Given the description of an element on the screen output the (x, y) to click on. 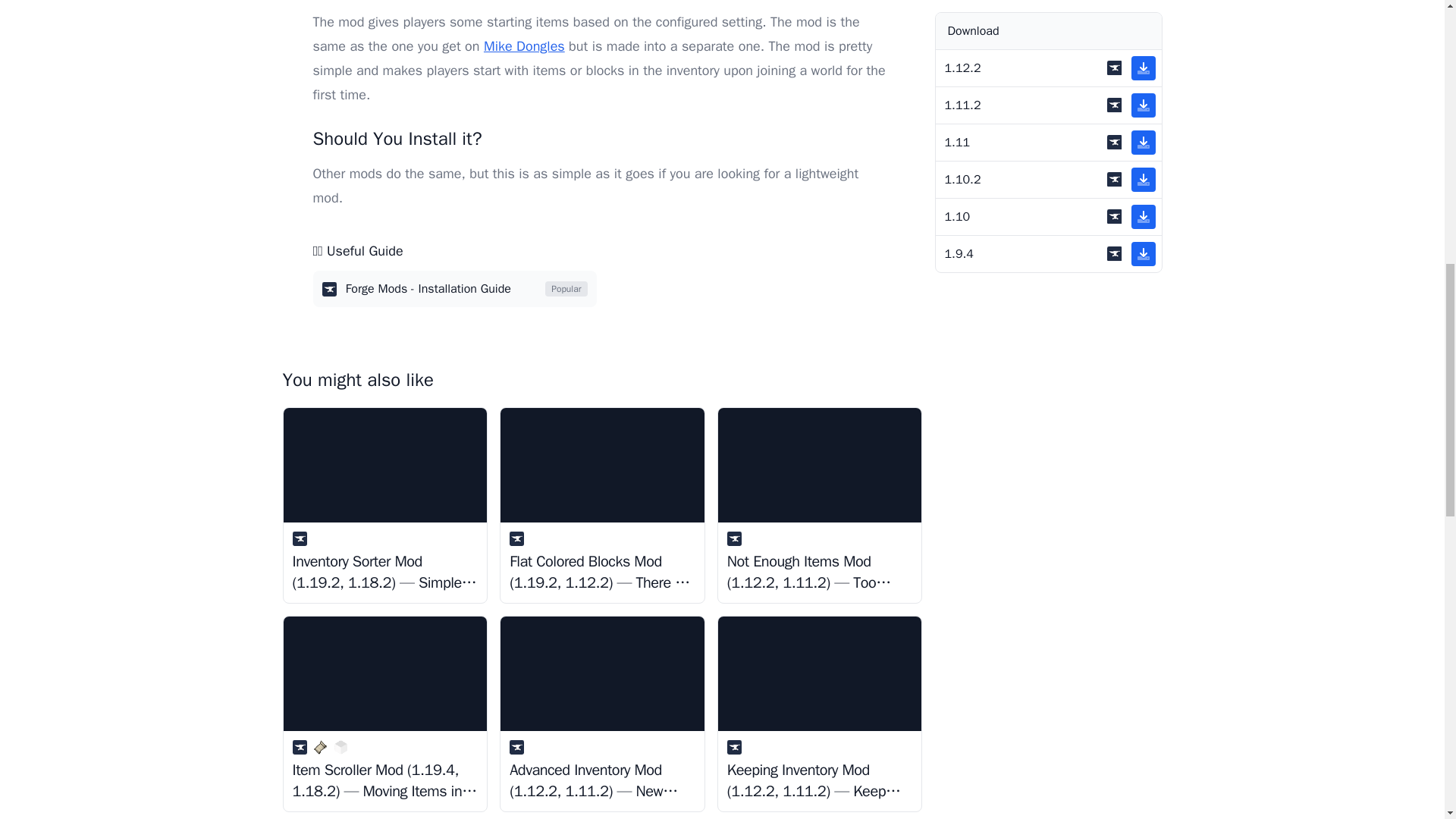
Mike Dongles (523, 45)
1.10.2 (1048, 12)
Forge Mods - Installation Guide (454, 289)
